Given the description of an element on the screen output the (x, y) to click on. 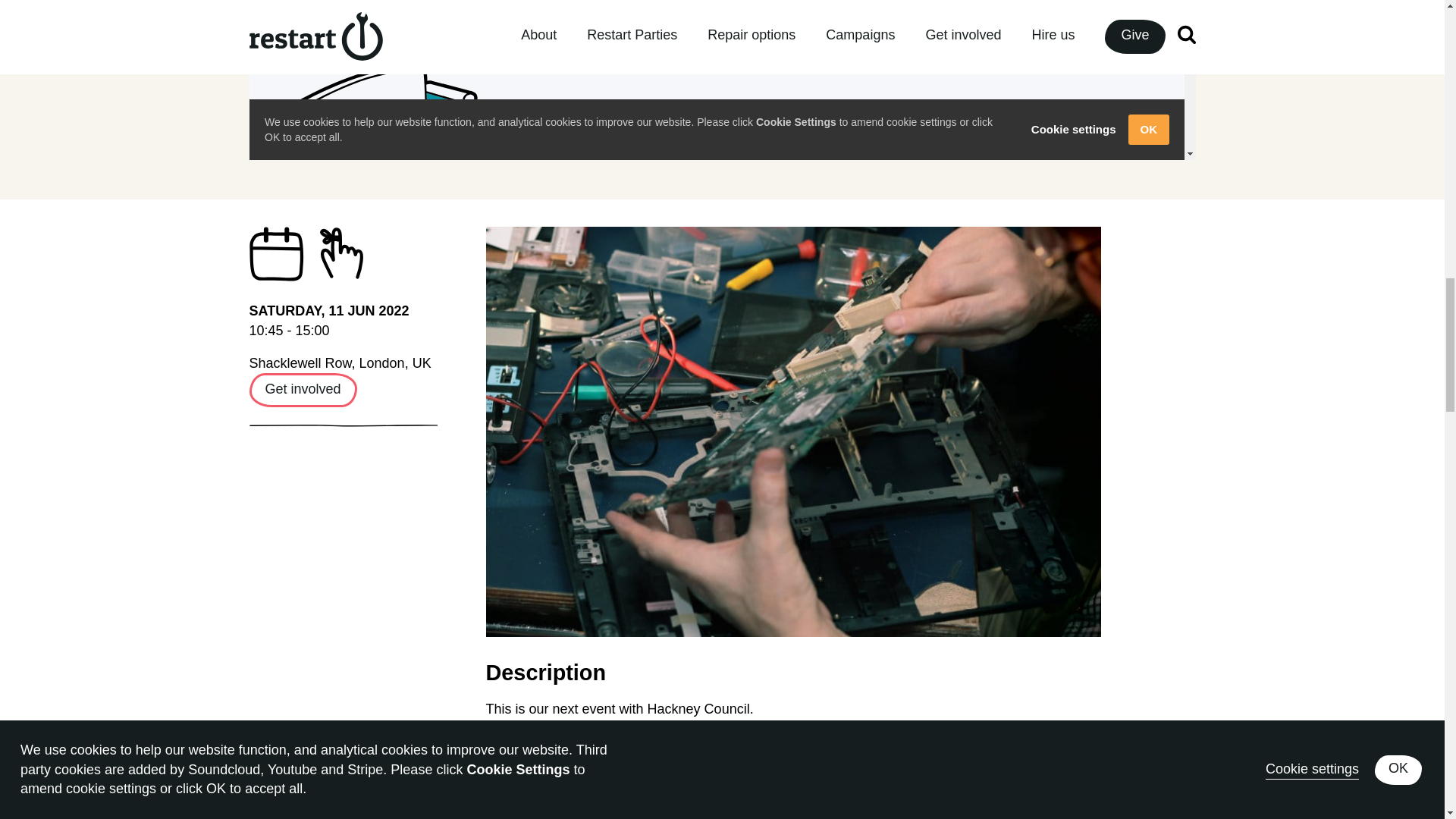
Get involved (302, 390)
